Given the description of an element on the screen output the (x, y) to click on. 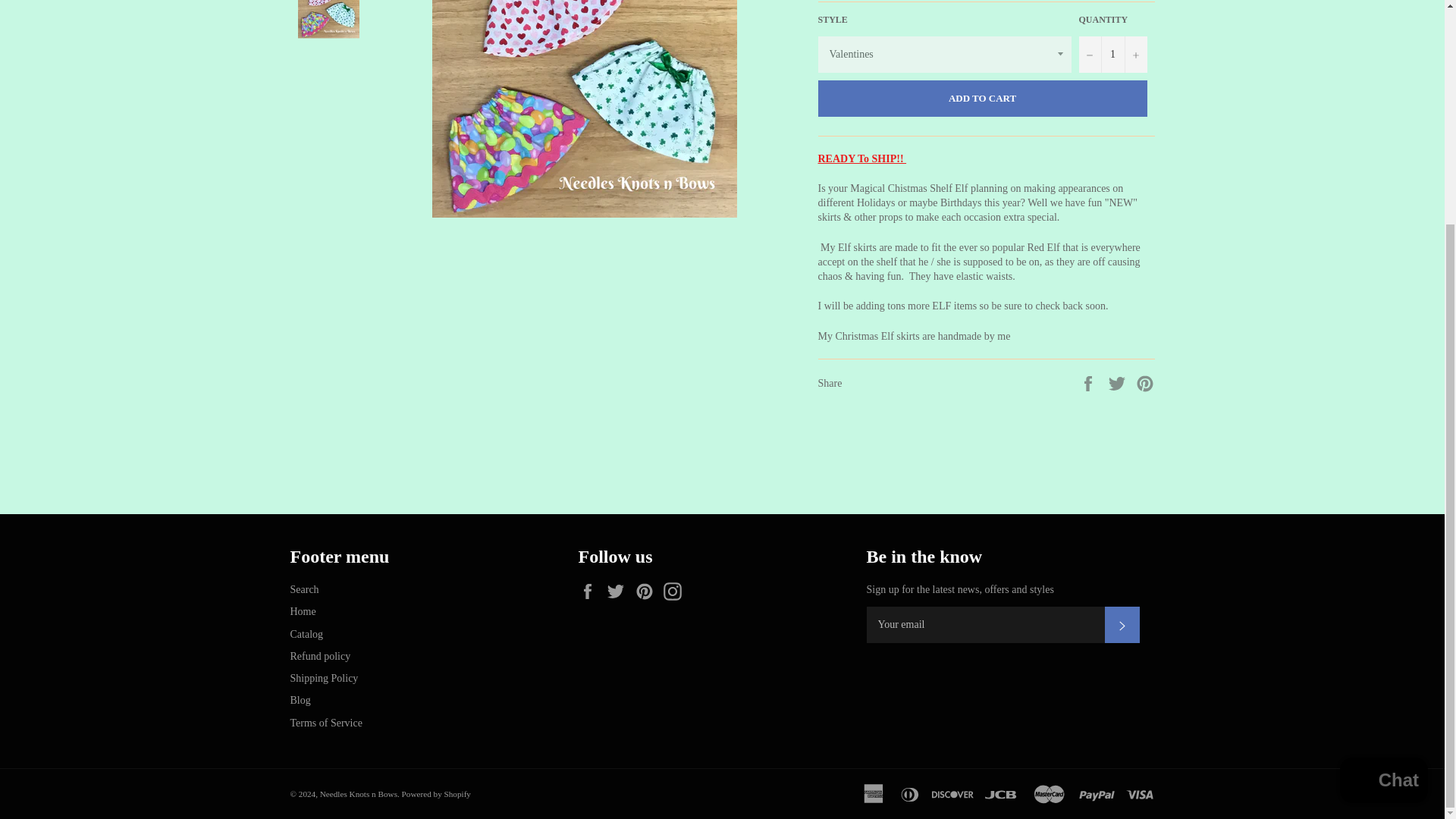
Tweet on Twitter (1118, 382)
1 (1112, 54)
Share on Facebook (1089, 382)
Needles Knots n Bows on Facebook (591, 591)
Pin on Pinterest (1144, 382)
Needles Knots n Bows on Pinterest (647, 591)
Shopify online store chat (1383, 482)
Needles Knots n Bows on Twitter (619, 591)
Needles Knots n Bows on Instagram (675, 591)
